Given the description of an element on the screen output the (x, y) to click on. 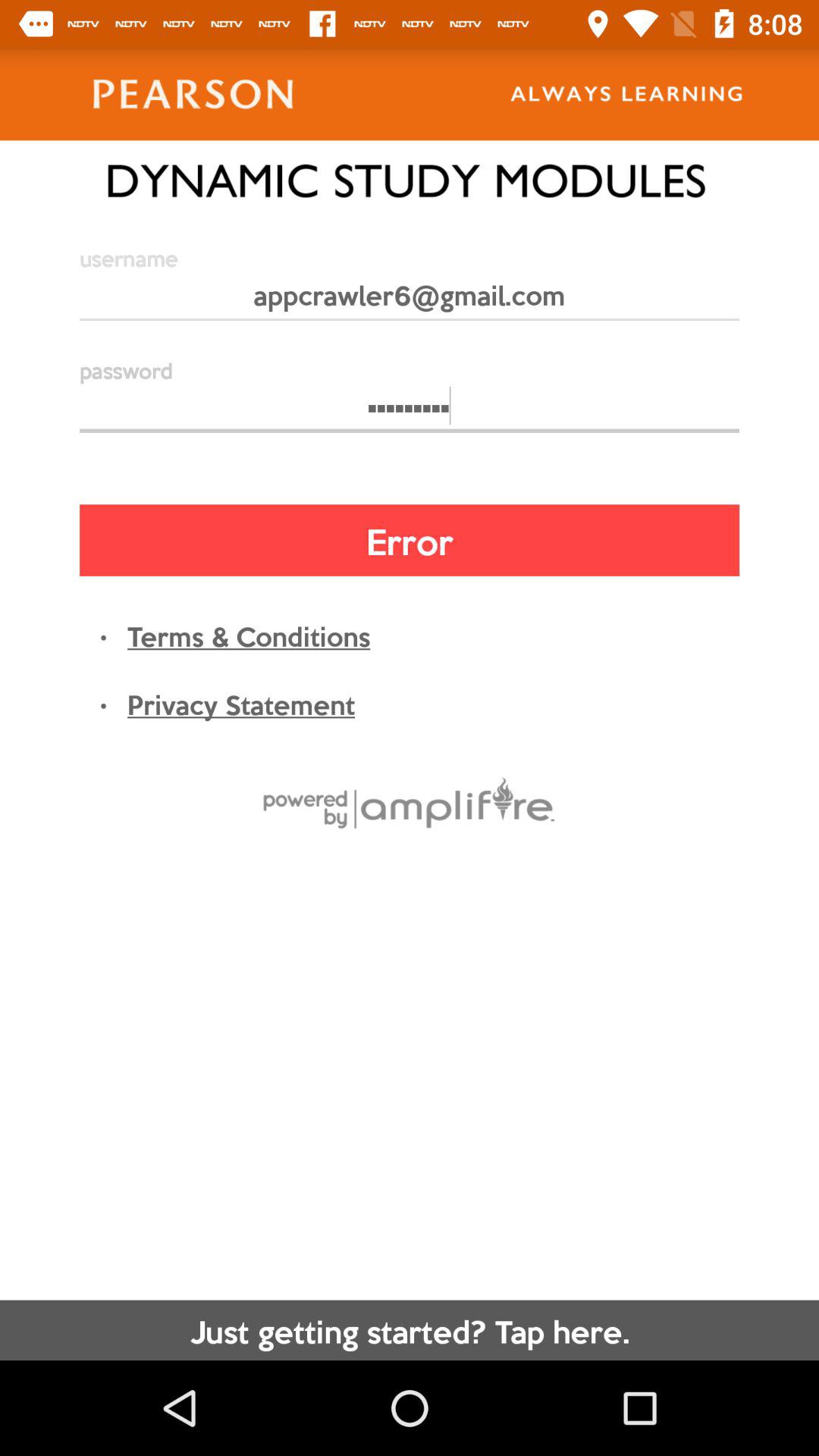
press appcrawler6@gmail.com icon (409, 301)
